Given the description of an element on the screen output the (x, y) to click on. 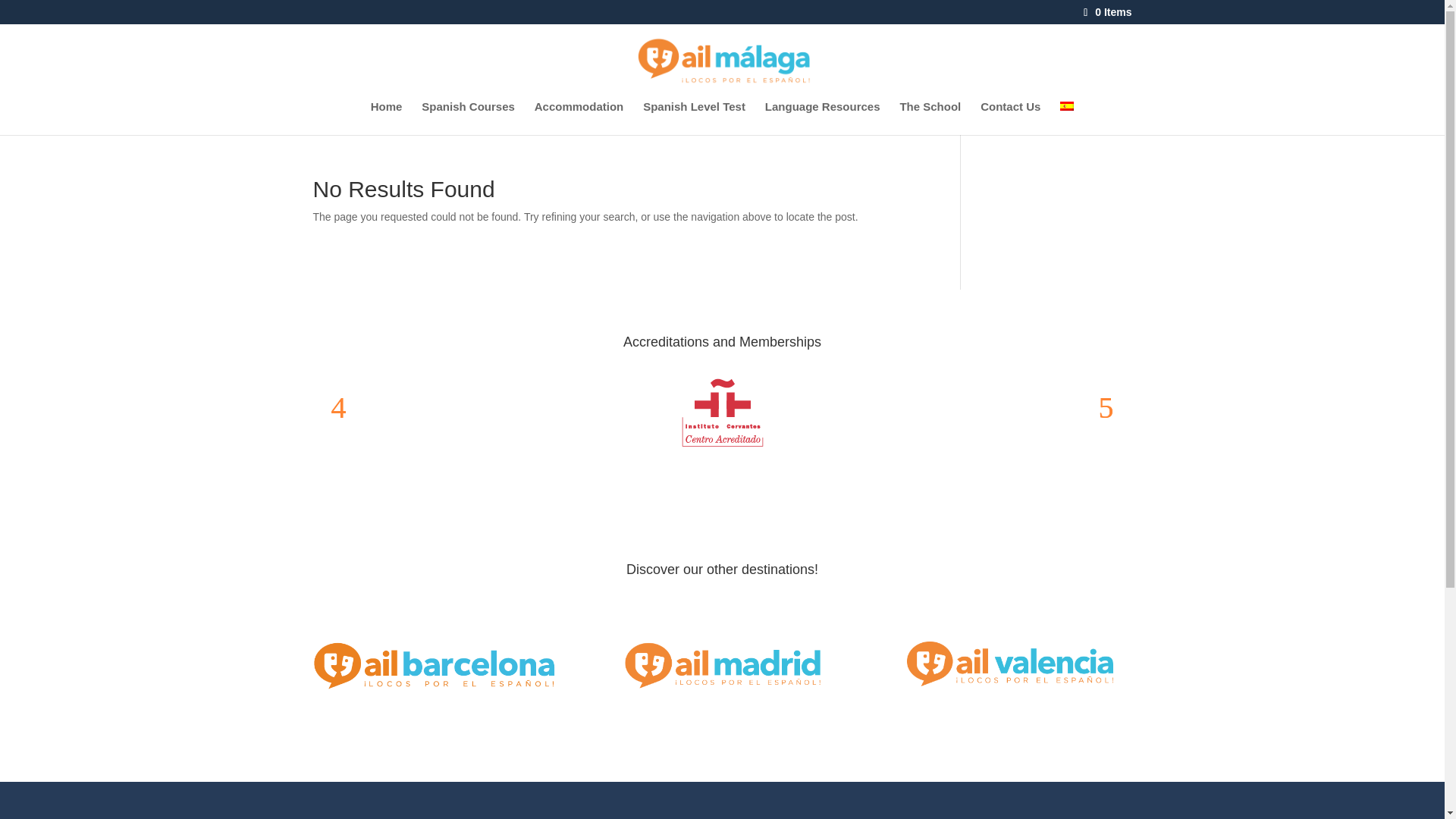
Home (387, 118)
LOGO AIL VALENCIA VERSION 3 - PNG (1010, 663)
0 Items (1105, 11)
Contact Us (1010, 118)
The School (929, 118)
Accommodation (579, 118)
Language Resources (822, 118)
AIL Madrid (721, 668)
Spanish Courses (468, 118)
Spanish Level Test (694, 118)
